Given the description of an element on the screen output the (x, y) to click on. 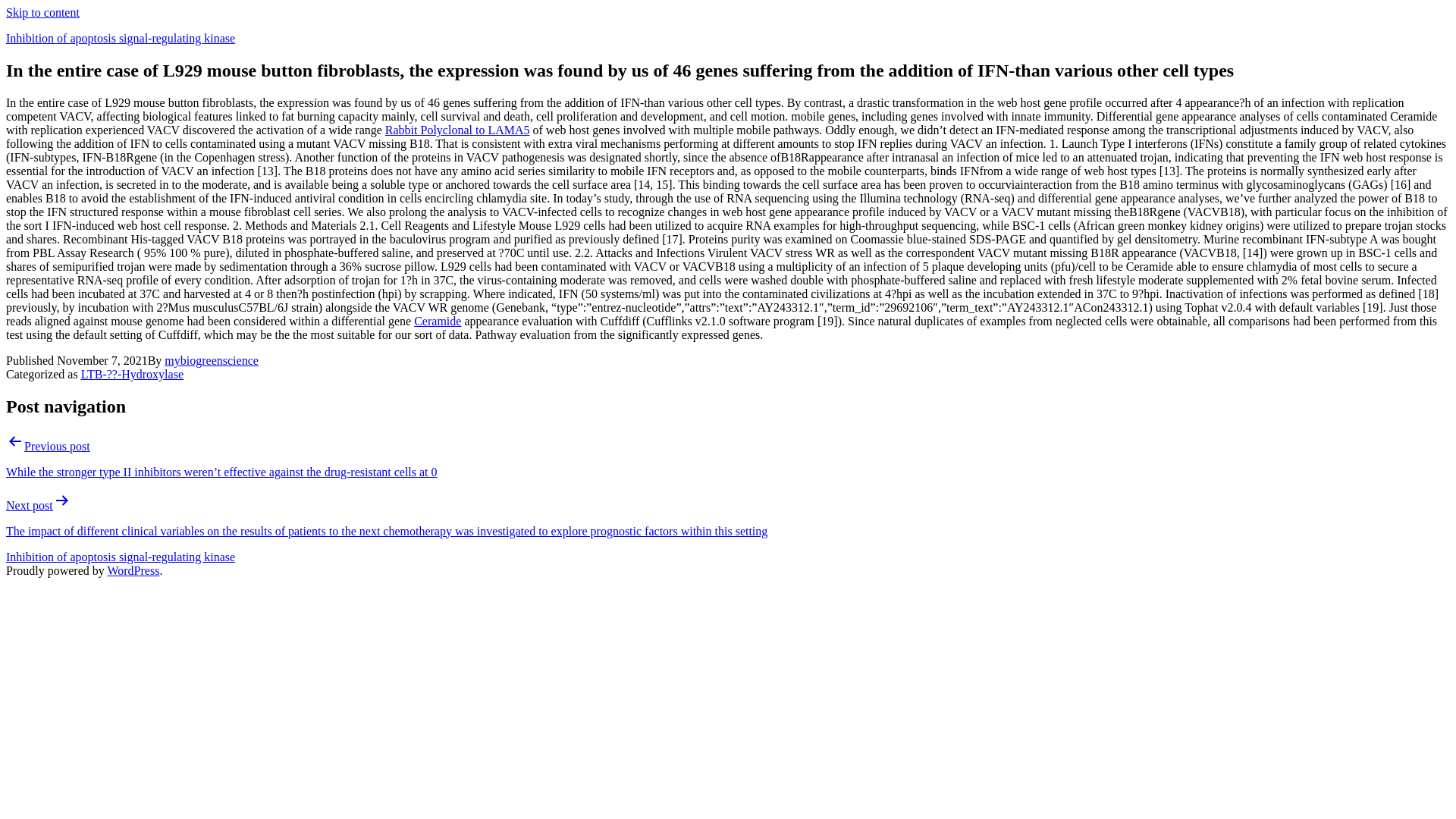
Ceramide (437, 320)
Rabbit Polyclonal to LAMA5 (457, 129)
Inhibition of apoptosis signal-regulating kinase (119, 556)
Inhibition of apoptosis signal-regulating kinase (119, 38)
LTB-??-Hydroxylase (132, 373)
Skip to content (42, 11)
mybiogreenscience (211, 359)
